Given the description of an element on the screen output the (x, y) to click on. 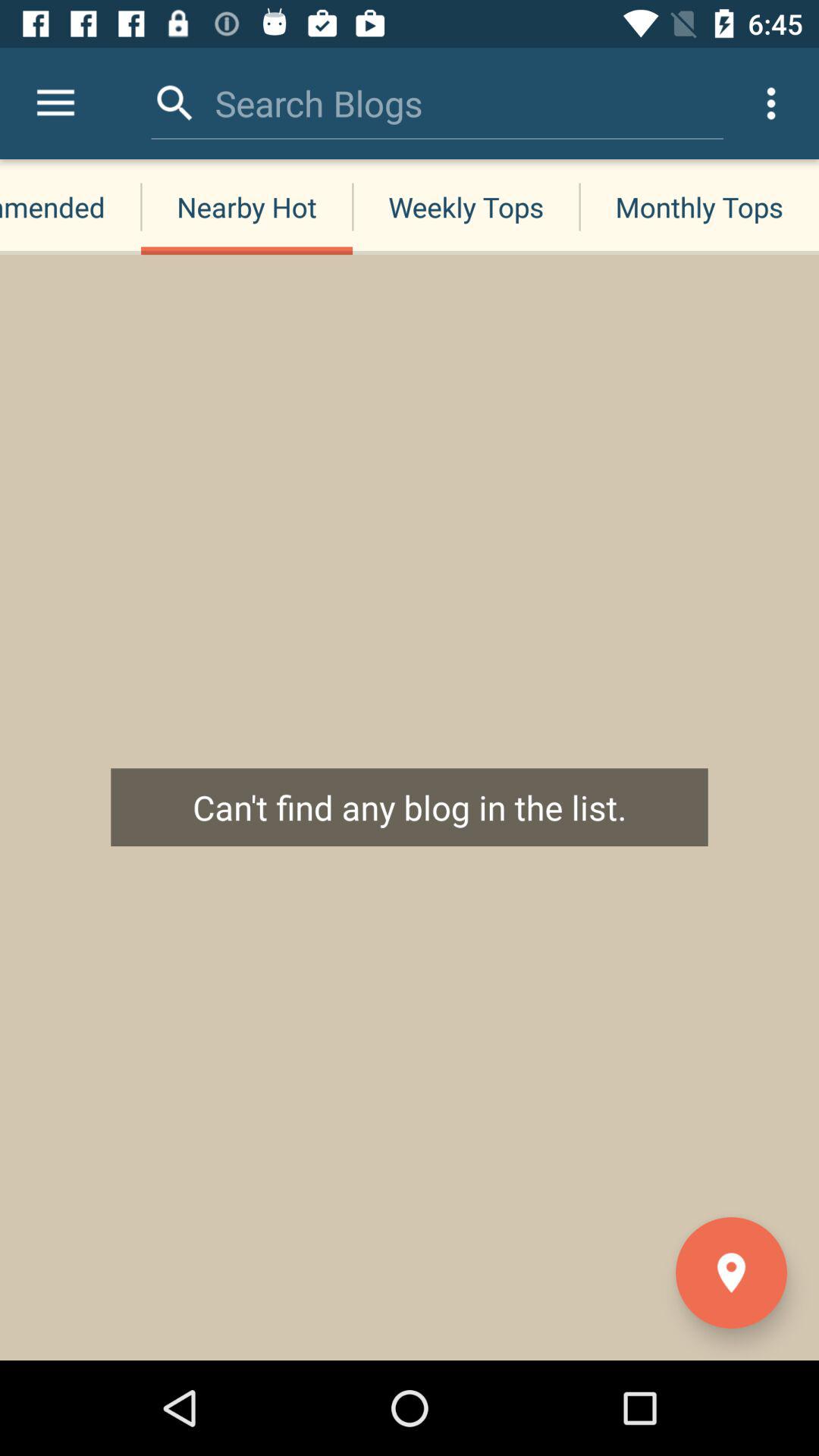
tap icon next to the recommended (246, 206)
